Given the description of an element on the screen output the (x, y) to click on. 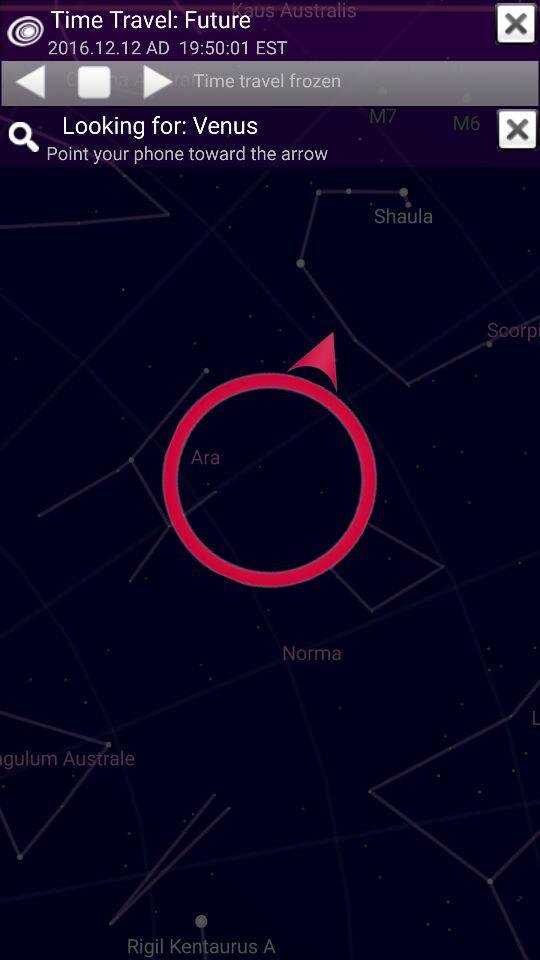
go to next screen (160, 81)
